Given the description of an element on the screen output the (x, y) to click on. 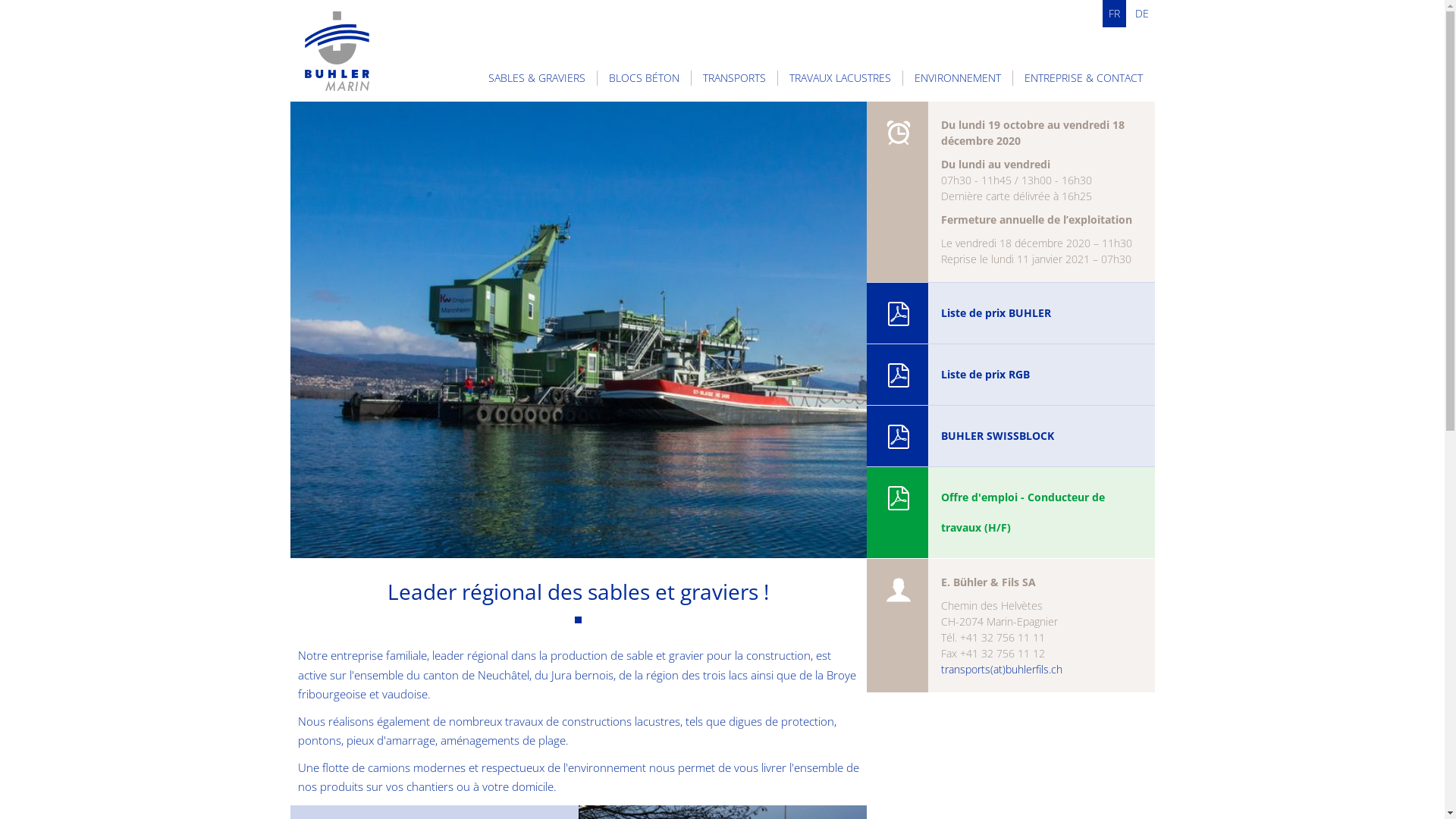
transports(at)buhlerfils.ch Element type: text (1000, 669)
Offre d'emploi - Conducteur de travaux (H/F) Element type: text (1010, 512)
ENTREPRISE & CONTACT Element type: text (1083, 77)
DE Element type: text (1141, 13)
ENVIRONNEMENT Element type: text (957, 77)
BUHLER SWISSBLOCK Element type: text (1010, 435)
FR Element type: text (1114, 13)
Liste de prix BUHLER Element type: text (1010, 312)
TRAVAUX LACUSTRES Element type: text (840, 77)
TRANSPORTS Element type: text (734, 77)
Liste de prix RGB Element type: text (1010, 374)
SABLES & GRAVIERS Element type: text (536, 77)
